Given the description of an element on the screen output the (x, y) to click on. 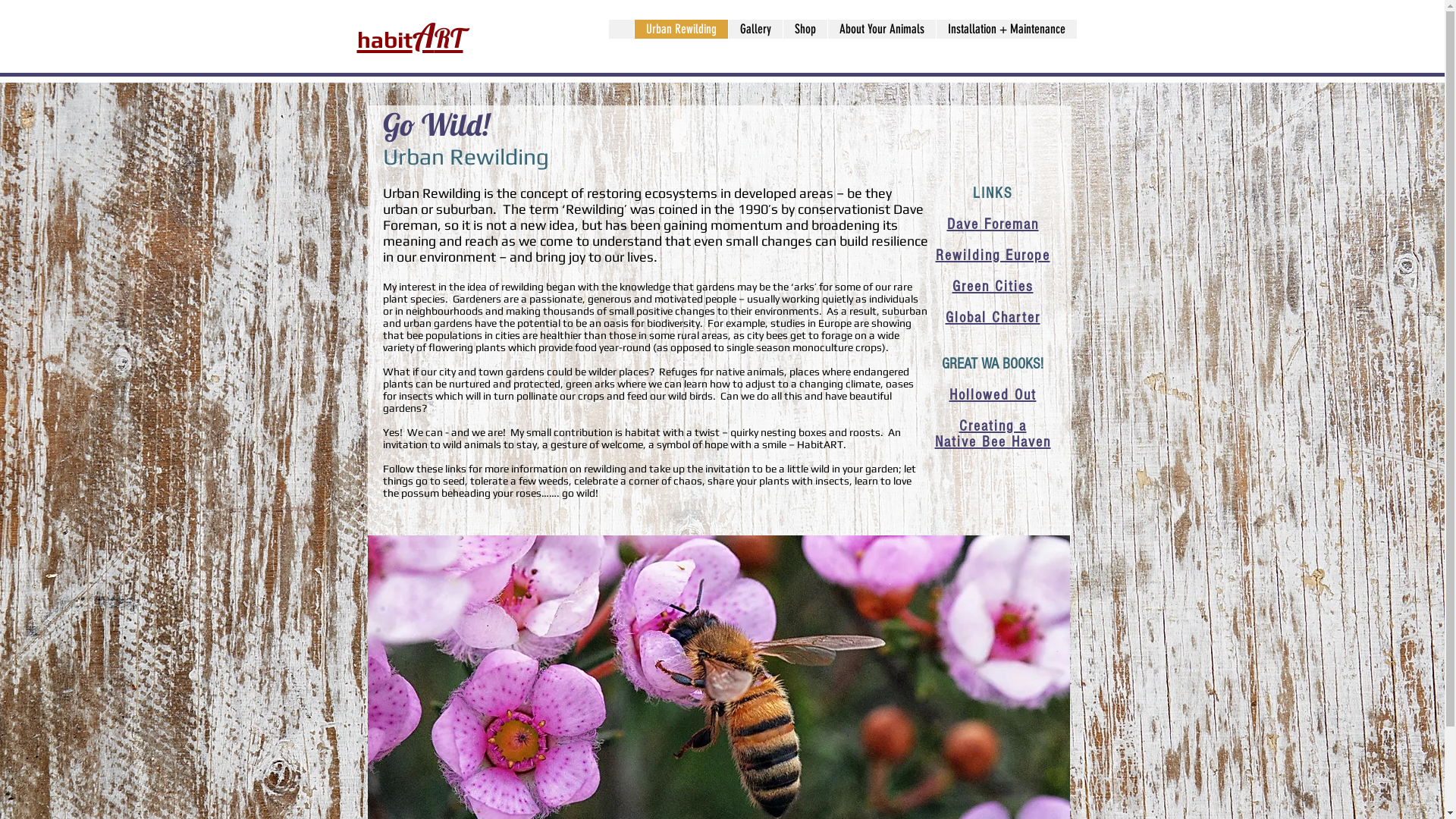
Urban Rewilding Element type: text (680, 28)
habitART Element type: text (409, 35)
Installation + Maintenance Element type: text (1005, 28)
Global Charter Element type: text (991, 316)
About Your Animals Element type: text (880, 28)
Green Cities Element type: text (992, 285)
Rewilding Europe Element type: text (992, 254)
Dave Foreman Element type: text (992, 223)
Creating a
Native Bee Haven Element type: text (992, 432)
LINKS Element type: text (992, 192)
Shop Element type: text (804, 28)
Gallery Element type: text (755, 28)
Hollowed Out Element type: text (992, 394)
